Given the description of an element on the screen output the (x, y) to click on. 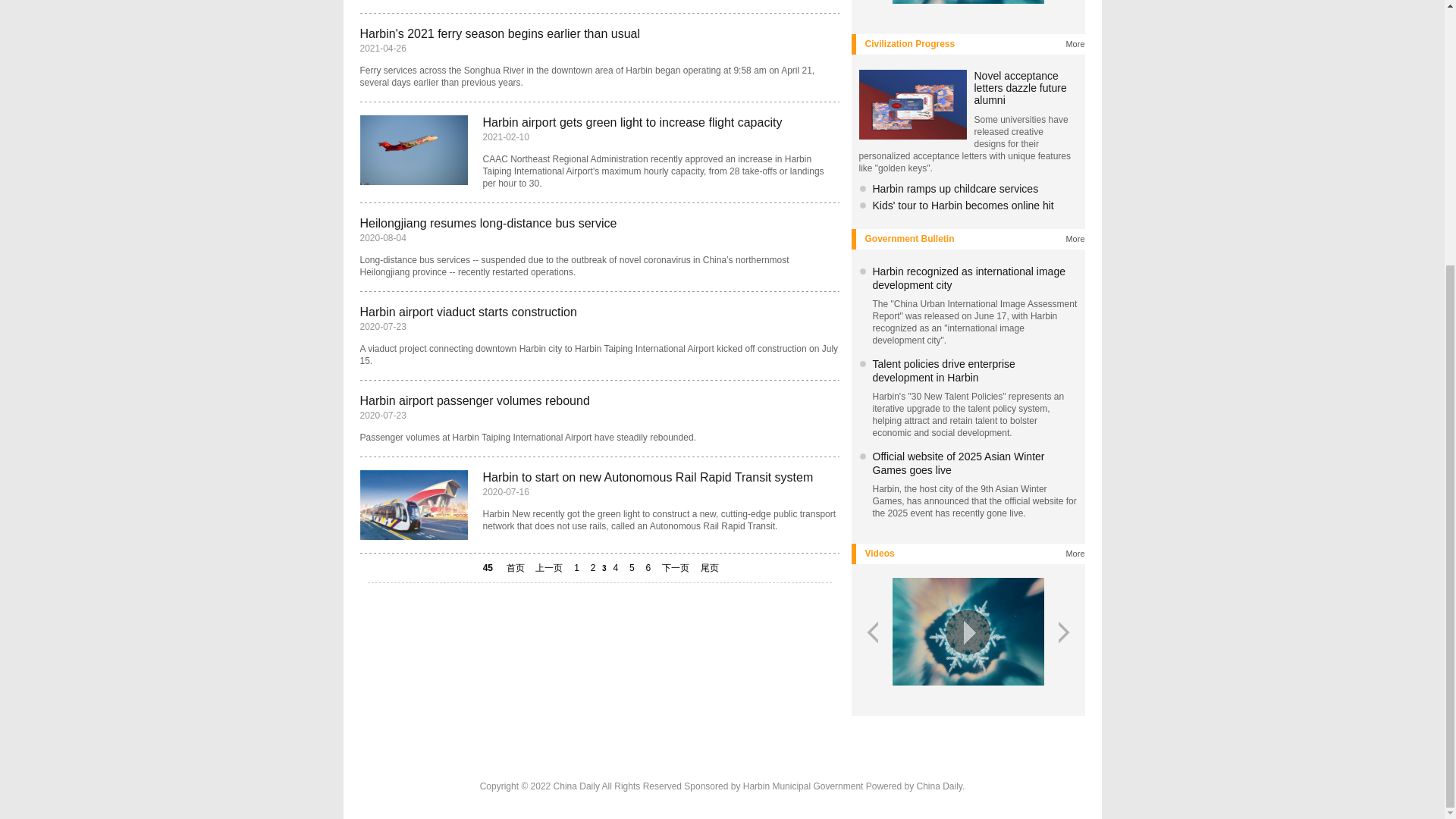
6 (647, 567)
Harbin airport viaduct starts construction (467, 311)
Harbin to start on new Autonomous Rail Rapid Transit system (646, 477)
Harbin's 2021 ferry season begins earlier than usual (499, 33)
Heilongjiang resumes long-distance bus service (487, 223)
 45 (486, 567)
1 (576, 567)
4 (615, 567)
2 (592, 567)
5 (631, 567)
Total record (486, 567)
Harbin airport gets green light to increase flight capacity (631, 122)
Harbin airport passenger volumes rebound (474, 400)
